Given the description of an element on the screen output the (x, y) to click on. 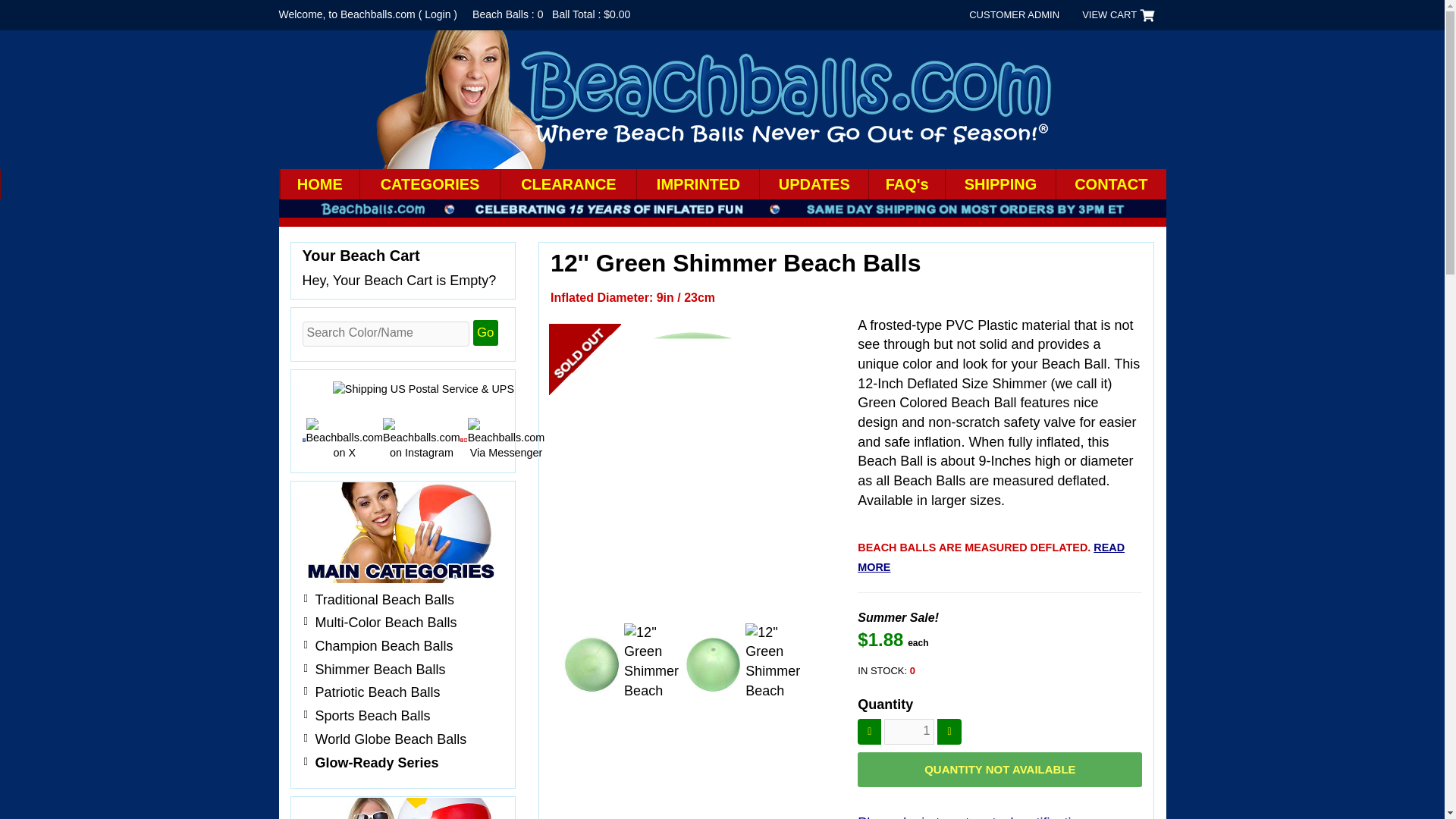
Beachballs.com Where Beach Balls Never Go Out of Season! (716, 99)
Go (485, 332)
FAQ's (905, 183)
CUSTOMER ADMIN (1014, 15)
1 (908, 731)
CLEARANCE (567, 183)
Beachballs.com Where Beach Balls Never Go Out of Season! (716, 99)
UPDATES (812, 183)
Login (437, 14)
SHIPPING (999, 183)
